Given the description of an element on the screen output the (x, y) to click on. 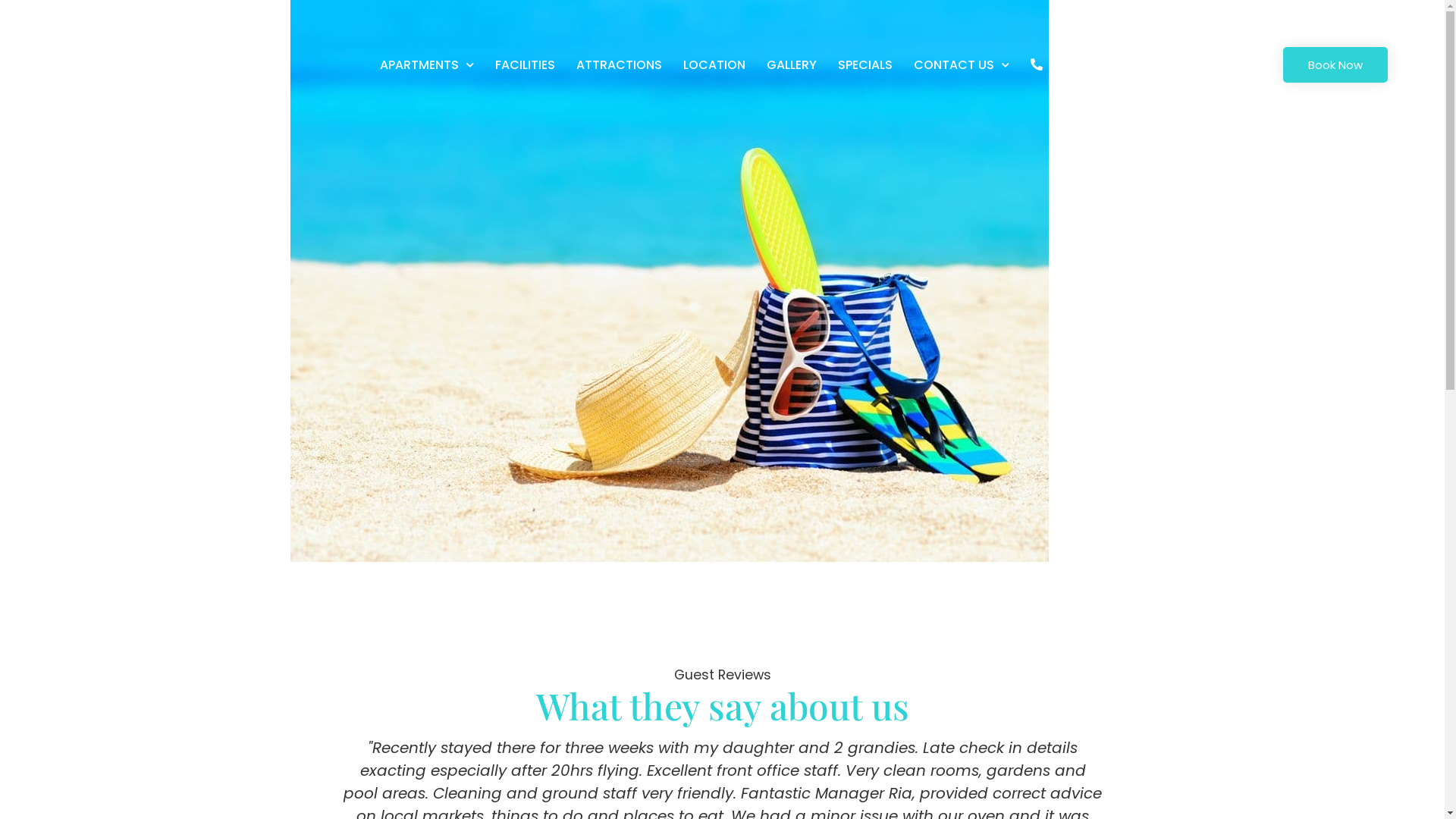
GALLERY Element type: text (791, 64)
LOCATION Element type: text (714, 64)
FACILITIES Element type: text (524, 64)
Book Now Element type: text (1335, 64)
SPECIALS Element type: text (865, 64)
CONTACT US Element type: text (961, 64)
ATTRACTIONS Element type: text (618, 64)
+61 7 5443 9400 Element type: text (1089, 64)
APARTMENTS Element type: text (426, 64)
